Given the description of an element on the screen output the (x, y) to click on. 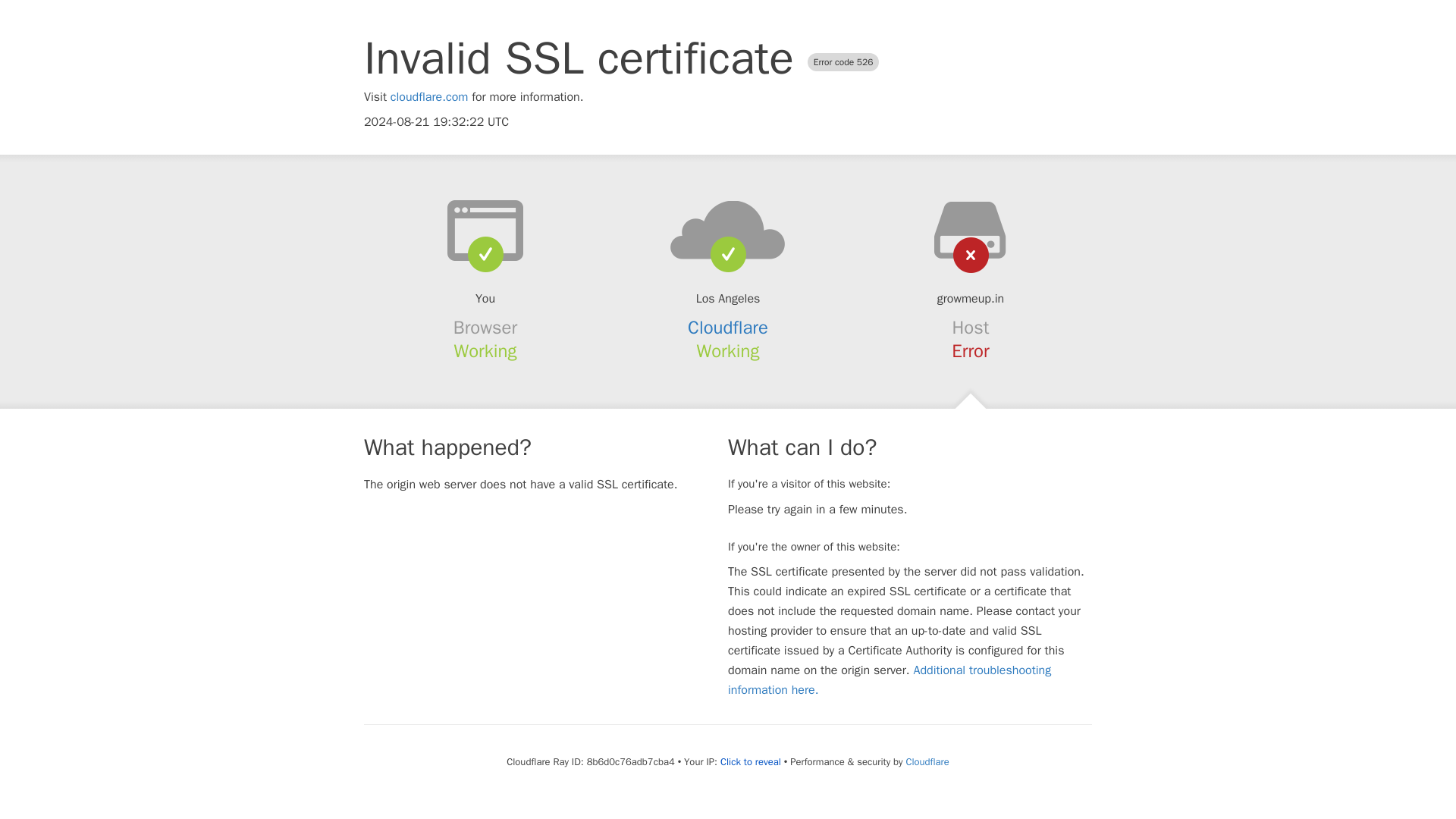
Click to reveal (750, 762)
cloudflare.com (429, 96)
Additional troubleshooting information here. (889, 679)
Cloudflare (727, 327)
Cloudflare (927, 761)
